Given the description of an element on the screen output the (x, y) to click on. 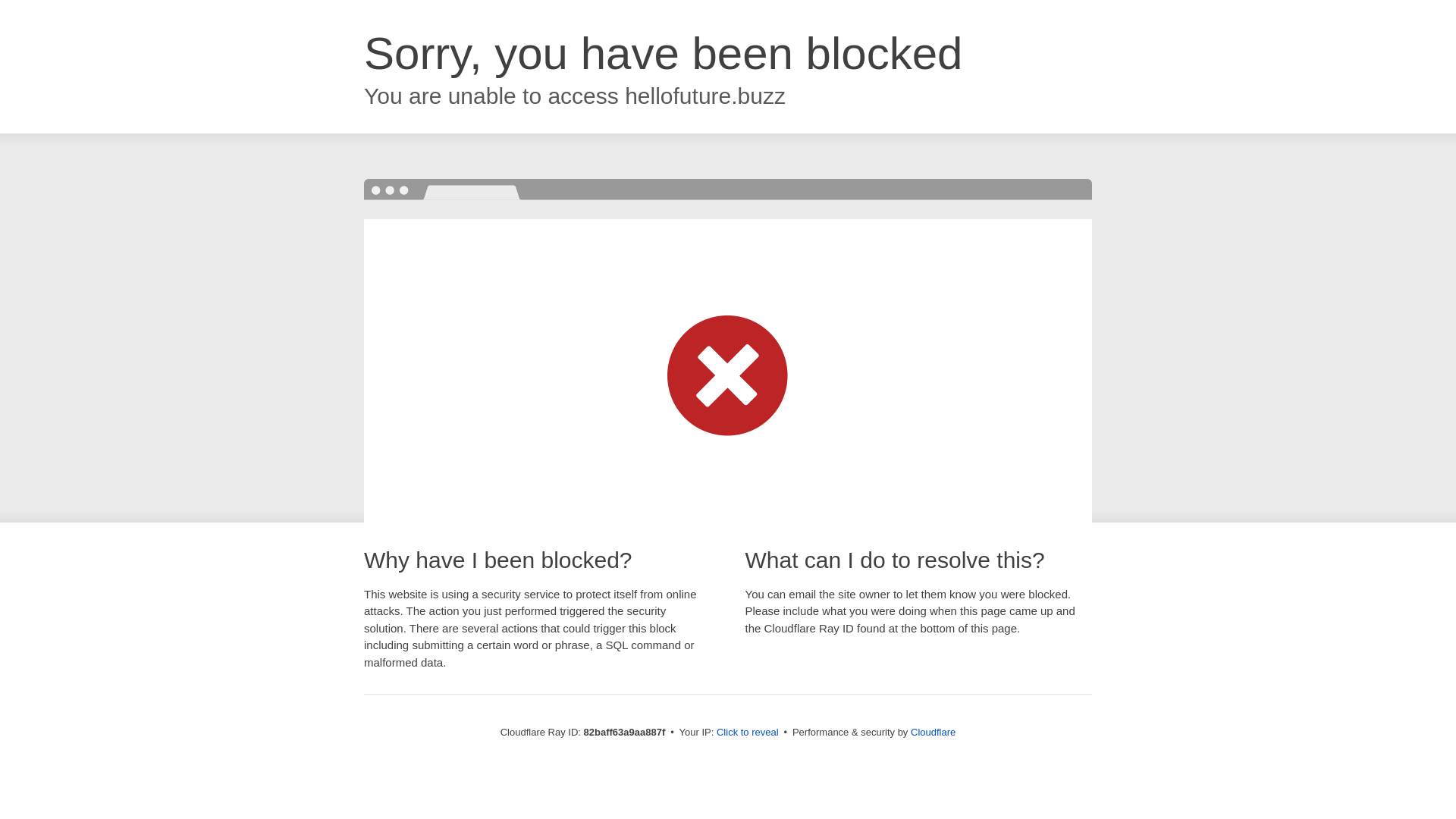
Cloudflare Element type: text (932, 731)
Click to reveal Element type: text (747, 732)
